Given the description of an element on the screen output the (x, y) to click on. 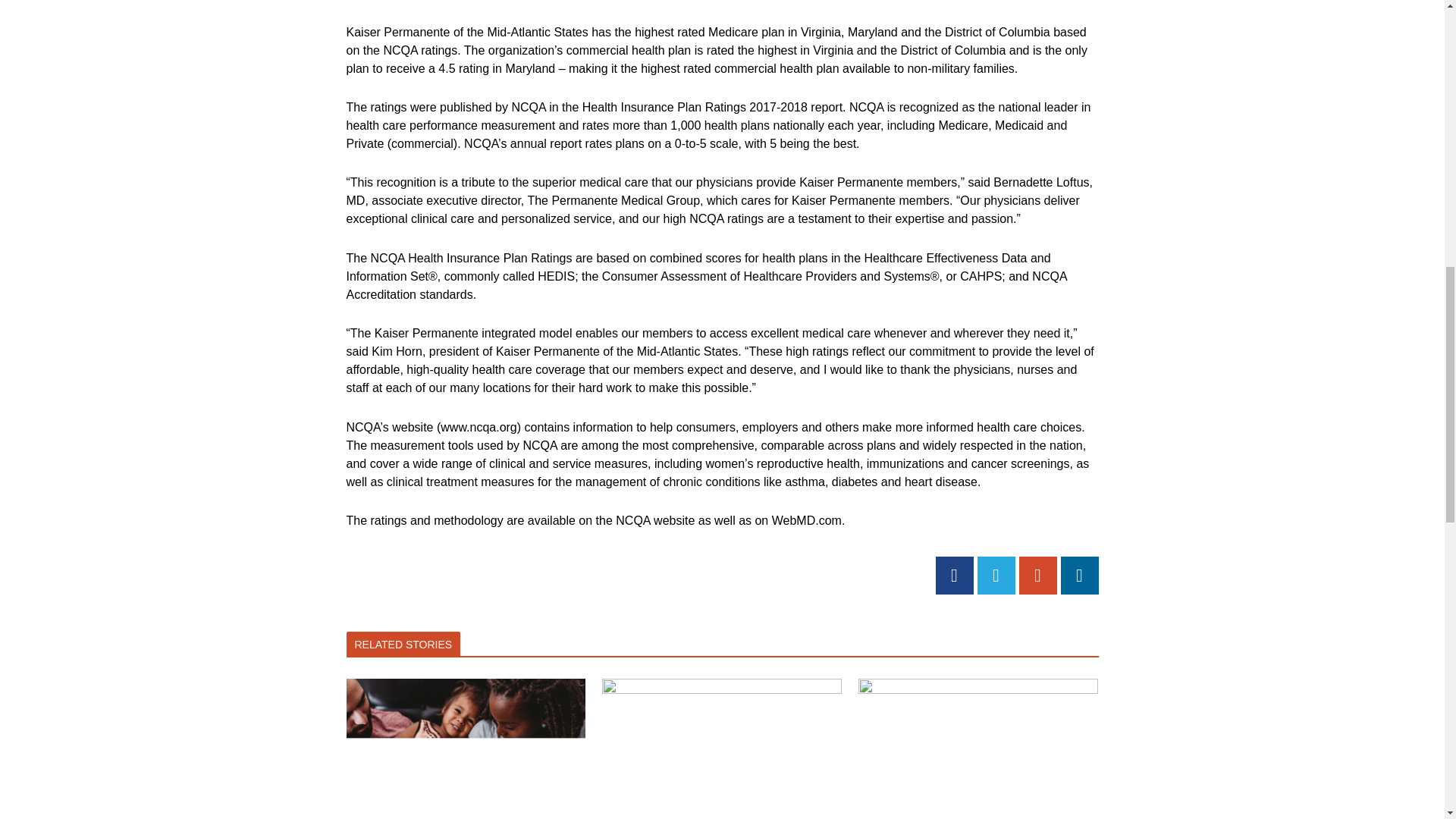
Twitter (995, 575)
Share on LinkedIn (1078, 575)
Share on Facebook (955, 575)
Facebook (955, 575)
LinkedIn (1078, 575)
Tweet It (995, 575)
